Given the description of an element on the screen output the (x, y) to click on. 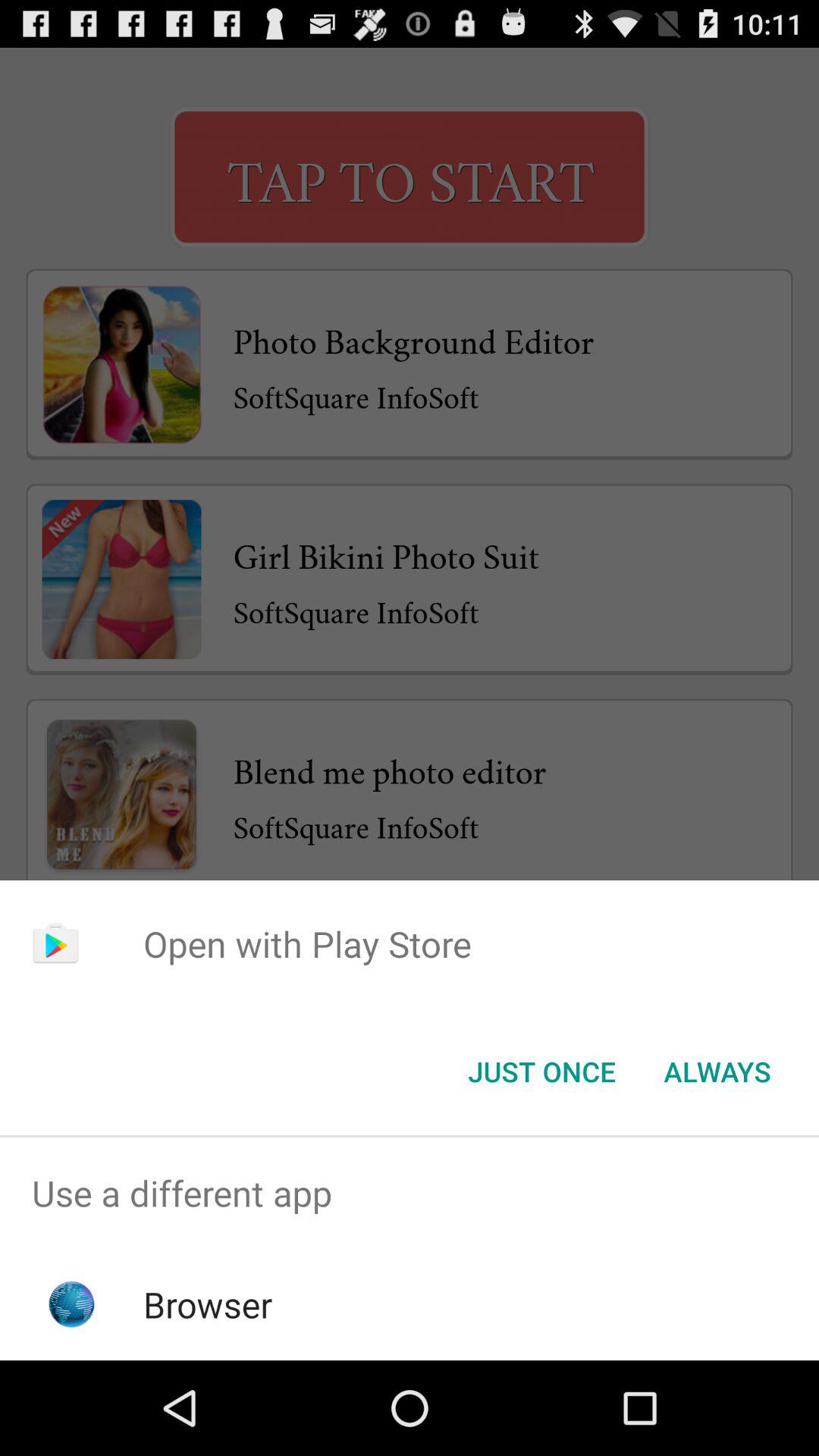
jump until just once button (541, 1071)
